Given the description of an element on the screen output the (x, y) to click on. 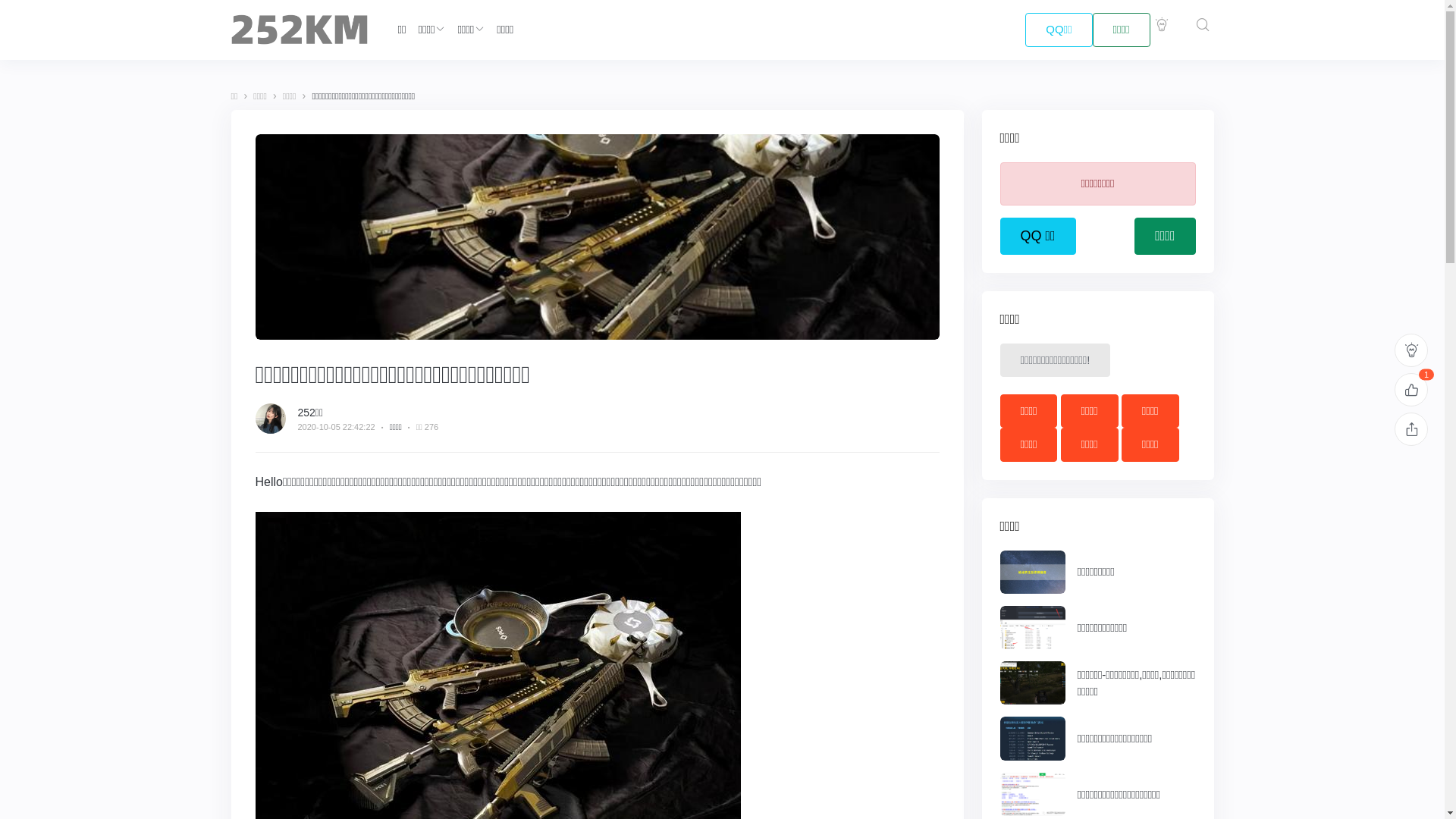
1 Element type: text (1410, 389)
